Given the description of an element on the screen output the (x, y) to click on. 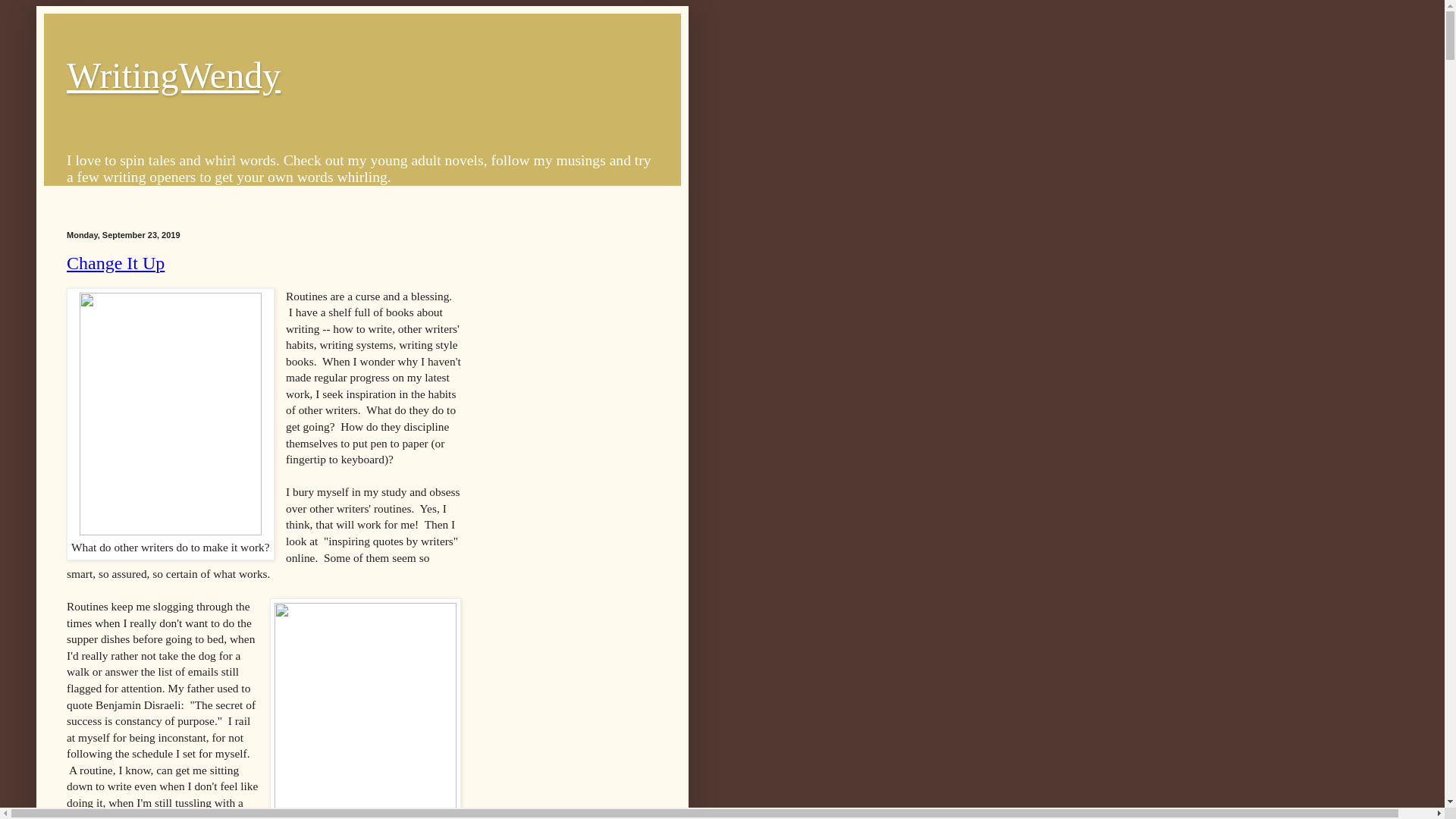
Change It Up (115, 262)
WritingWendy (173, 75)
